Given the description of an element on the screen output the (x, y) to click on. 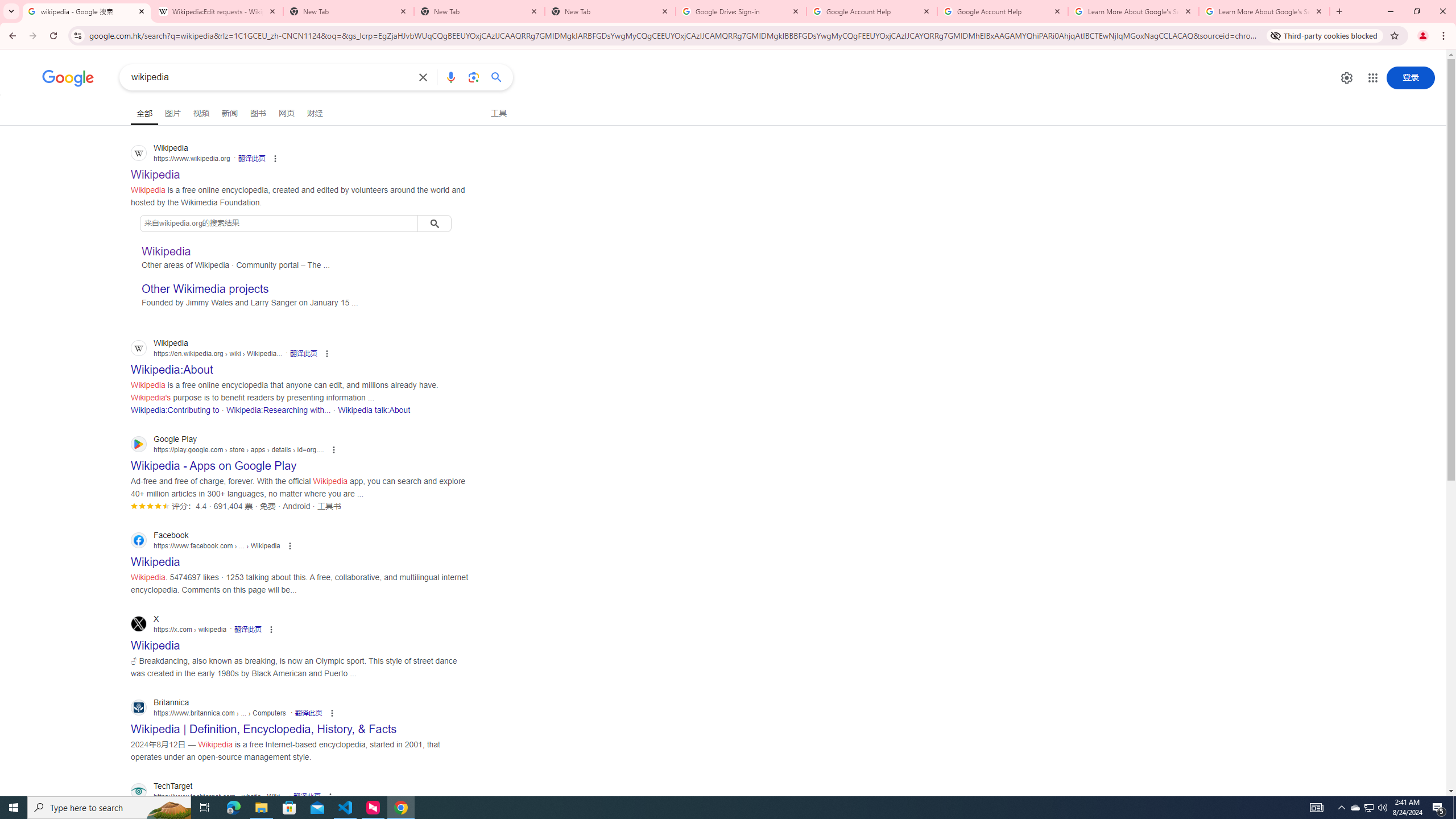
Wikipedia:Researching with... (277, 410)
Other Wikimedia projects (205, 288)
Google Drive: Sign-in (740, 11)
